Given the description of an element on the screen output the (x, y) to click on. 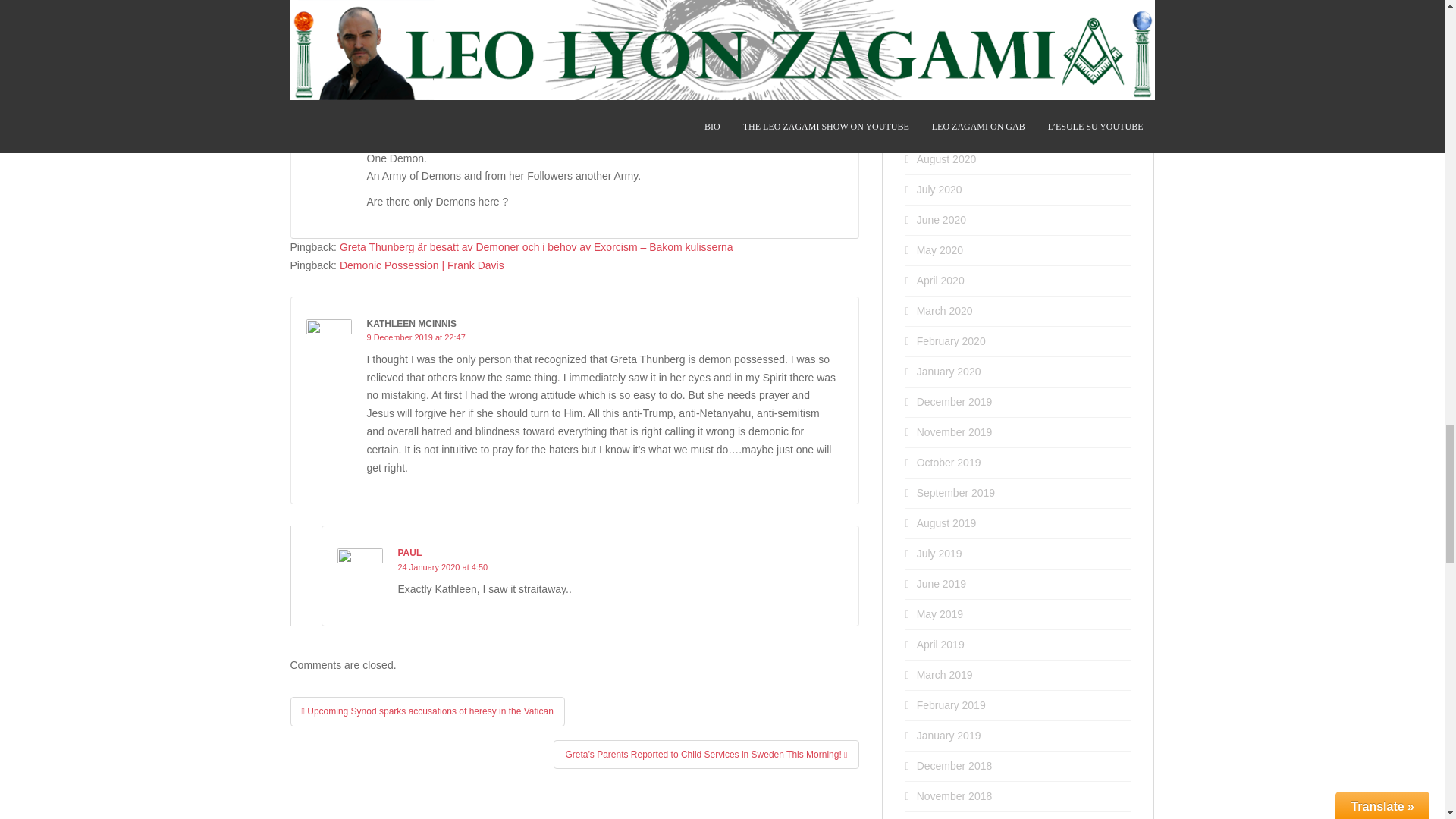
9 December 2019 at 22:47 (415, 337)
PAUL (409, 552)
Upcoming Synod sparks accusations of heresy in the Vatican (426, 710)
24 January 2020 at 4:50 (442, 566)
24 September 2019 at 5:55 (416, 135)
